Given the description of an element on the screen output the (x, y) to click on. 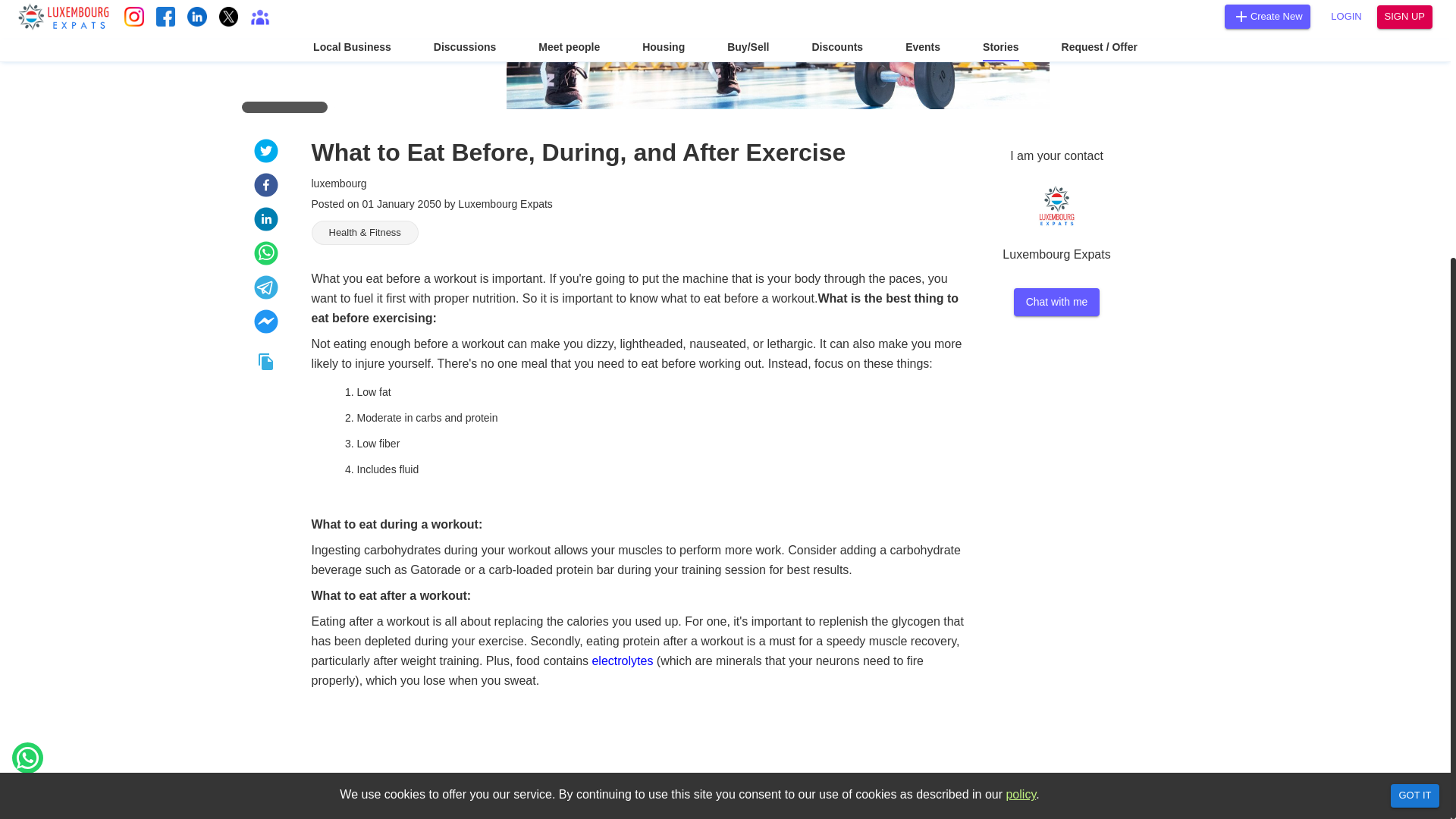
Chat with me (1056, 302)
electrolytes (621, 660)
GOT IT (1414, 418)
policy (1020, 417)
